Given the description of an element on the screen output the (x, y) to click on. 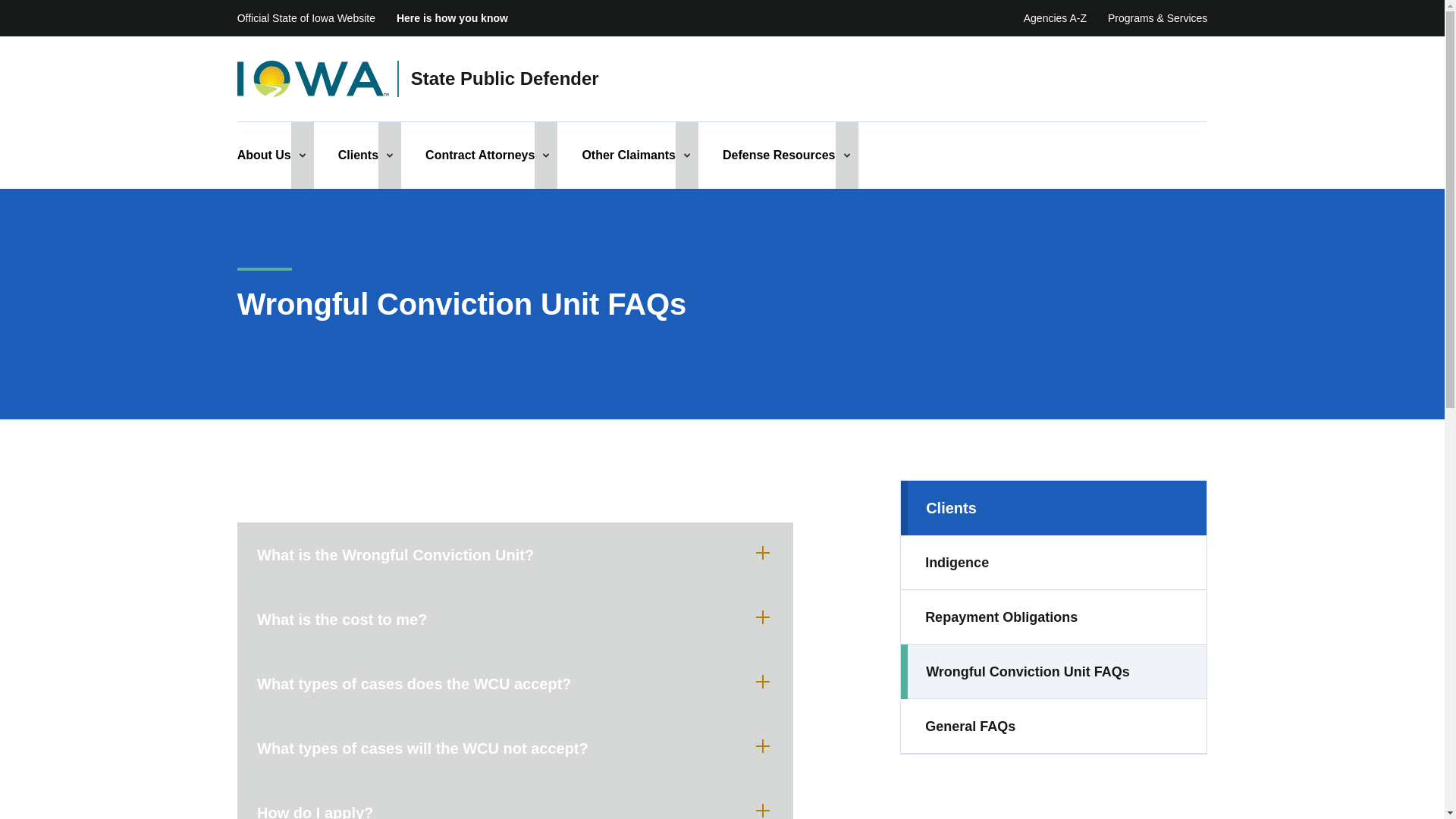
About Us sub-navigation (302, 155)
Other Claimants (627, 155)
Defense Resources (778, 155)
Contract Attorneys (479, 155)
Defense Resources (778, 155)
Other Claimants sub-navigation (686, 155)
Clients (357, 155)
About Us (264, 155)
About Us (264, 155)
State Public Defender (504, 78)
Contract Attorneys sub-navigation (545, 155)
Agencies A-Z (1054, 18)
Here is how you know (452, 18)
Clients sub-navigation (389, 155)
